Given the description of an element on the screen output the (x, y) to click on. 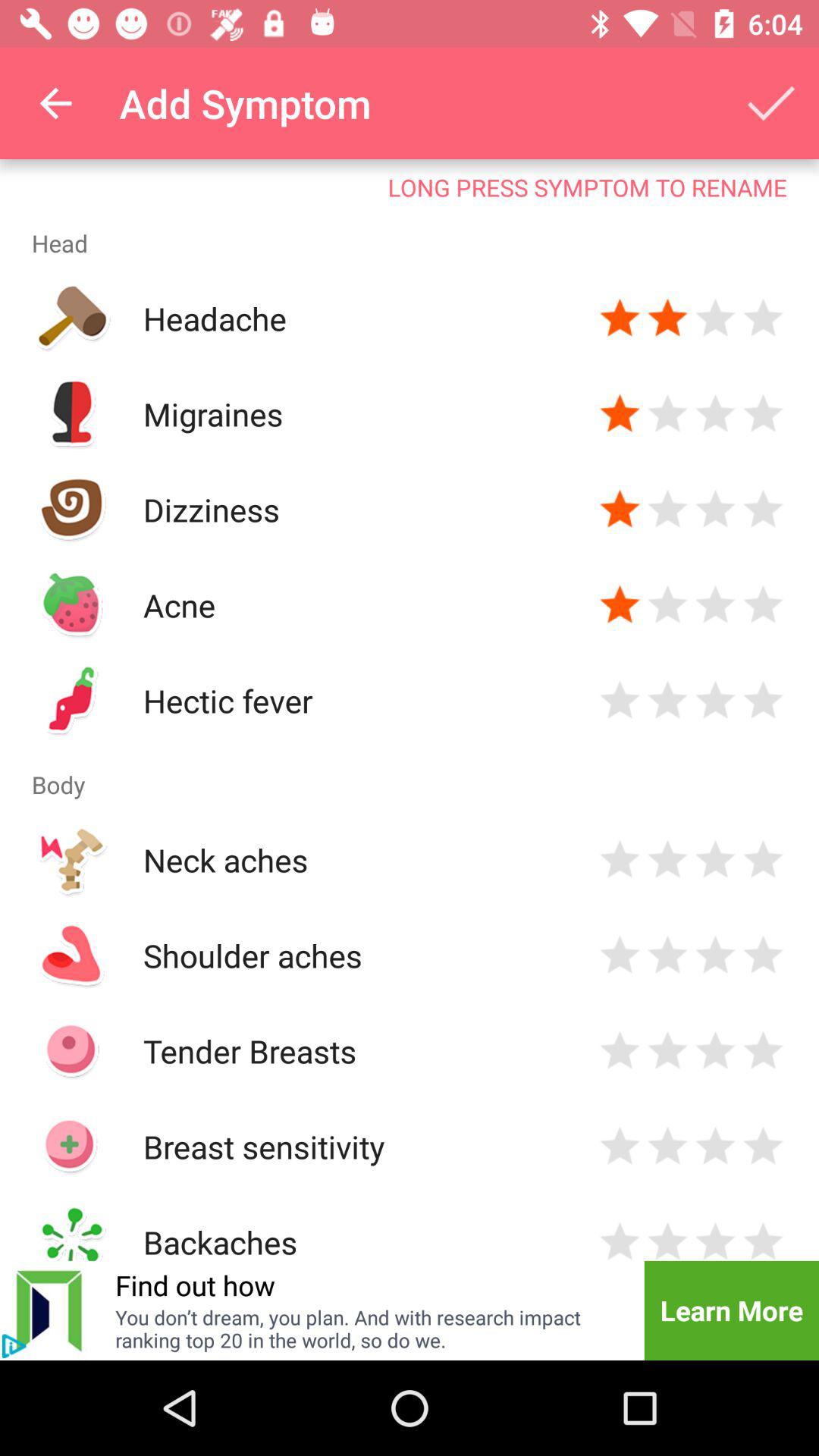
option to rate one star (619, 1146)
